Given the description of an element on the screen output the (x, y) to click on. 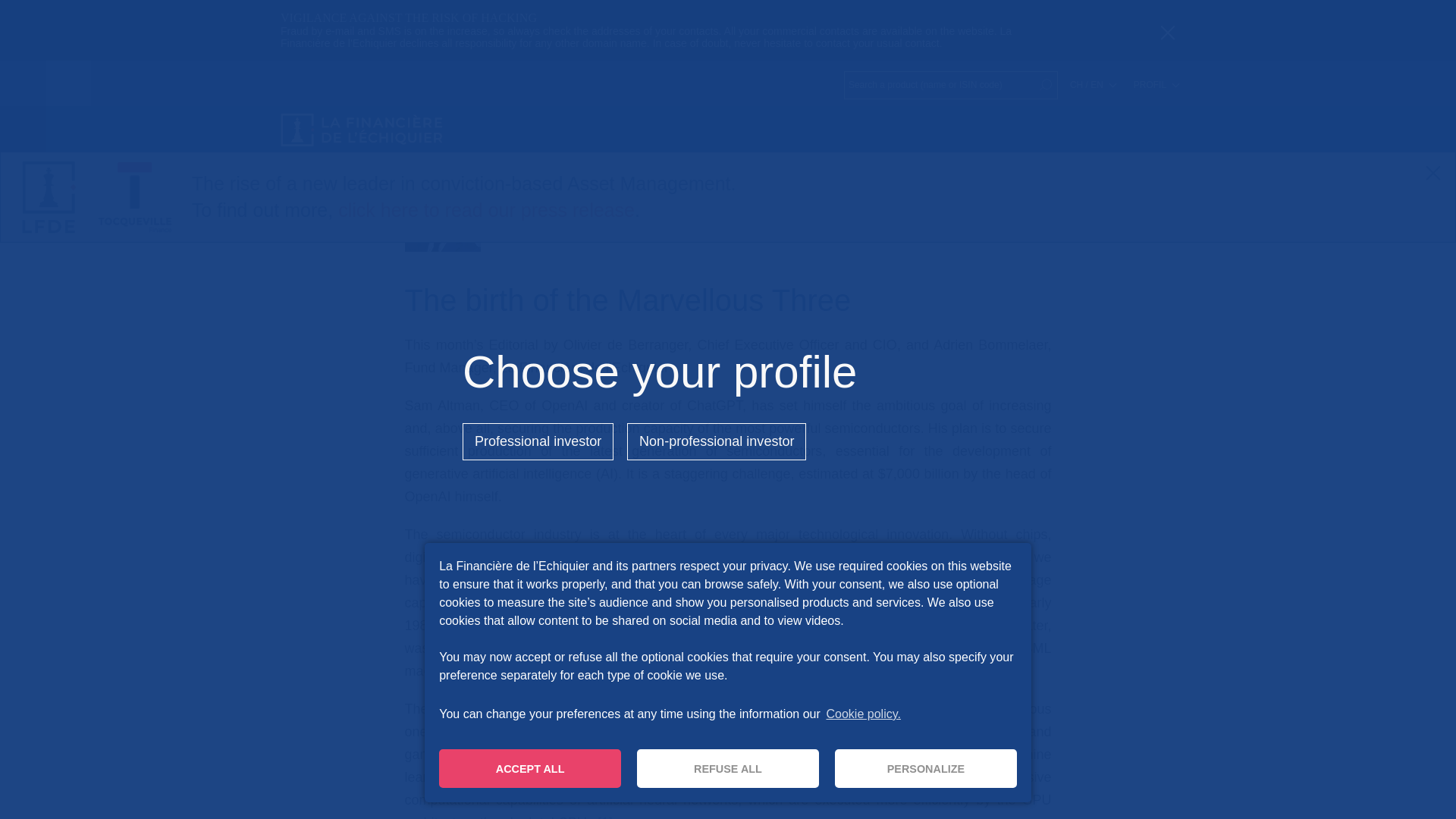
PROFIL (1155, 84)
PERSONALIZE (925, 768)
OK (1045, 84)
Cookie policy. (862, 713)
REFUSE ALL (727, 768)
ACCEPT ALL (530, 768)
OK (1045, 84)
